Given the description of an element on the screen output the (x, y) to click on. 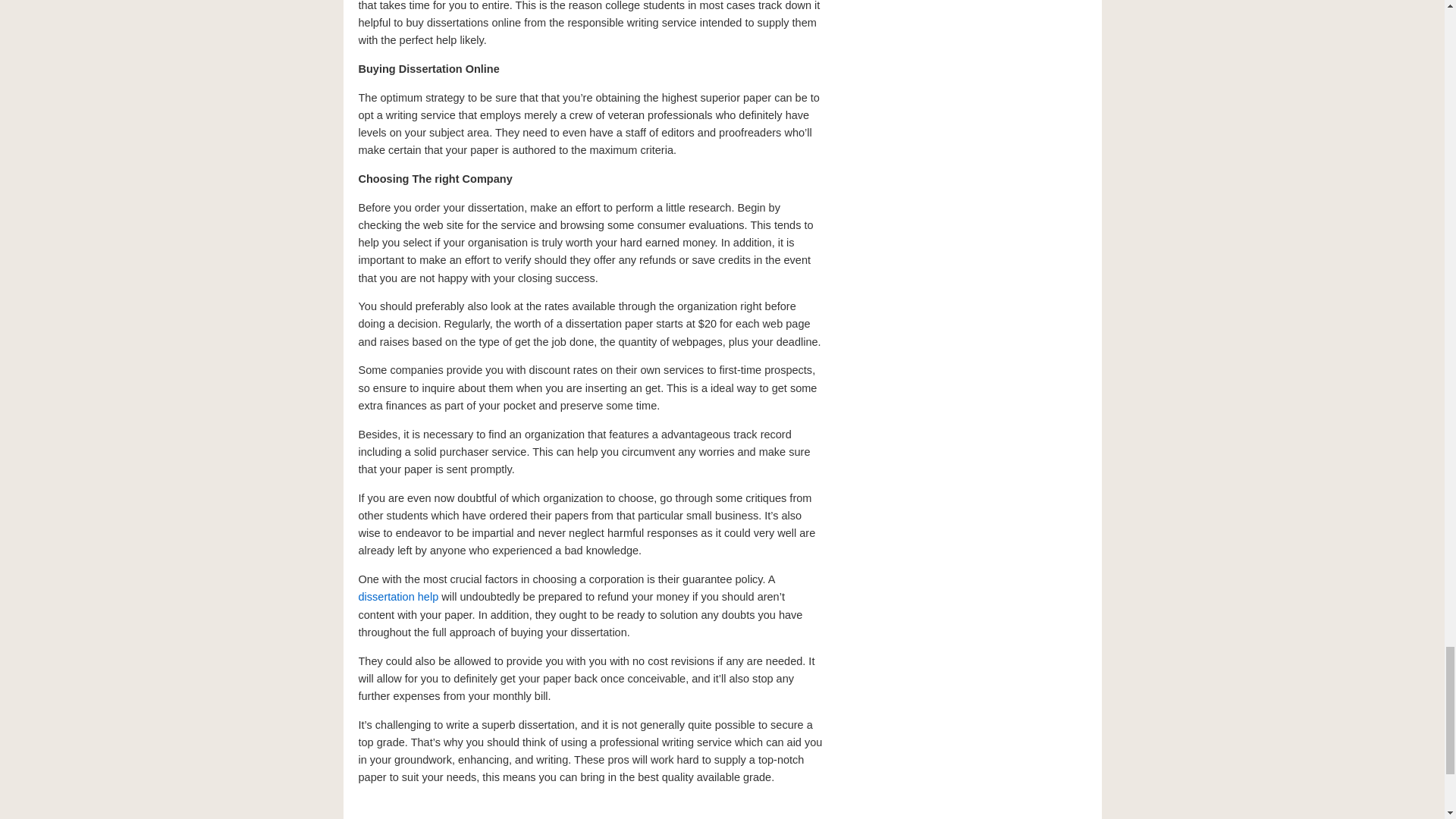
dissertation help (398, 596)
